Given the description of an element on the screen output the (x, y) to click on. 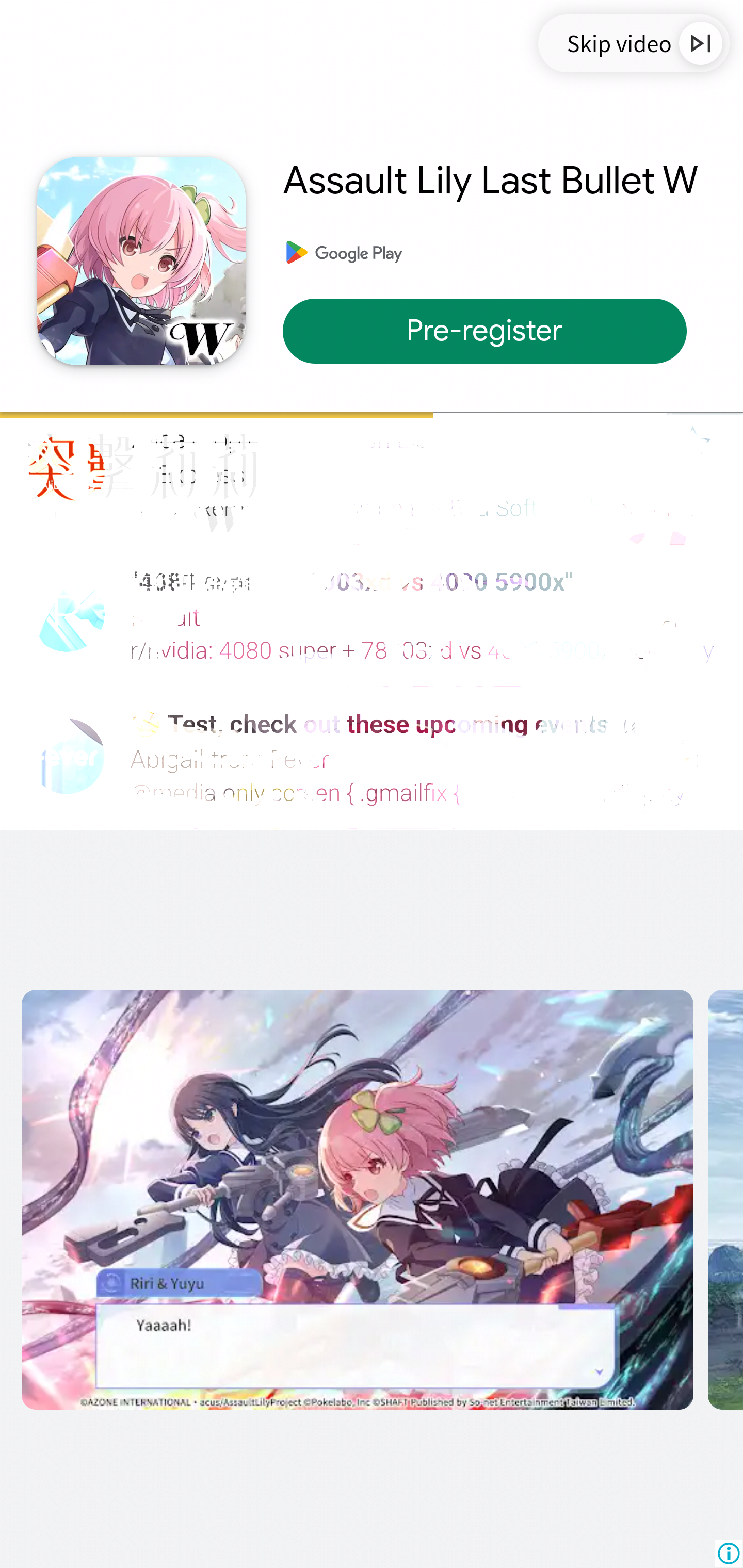
Pre-register (494, 331)
